Given the description of an element on the screen output the (x, y) to click on. 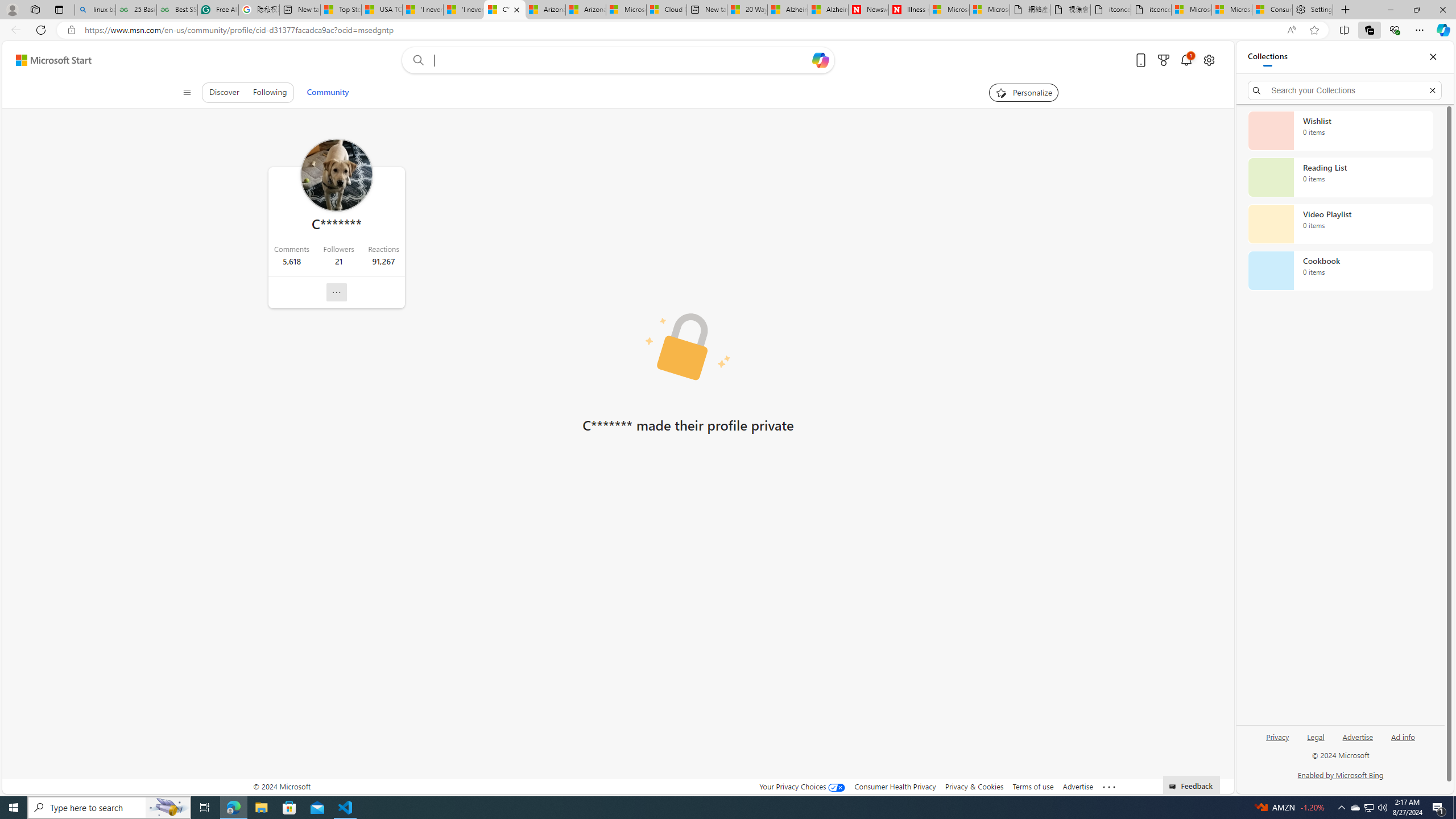
linux basic - Search (94, 9)
Class: feedback_link_icon-DS-EntryPoint1-1 (1173, 786)
Class: control icon-only (186, 92)
Illness news & latest pictures from Newsweek.com (908, 9)
Consumer Health Data Privacy Policy (1272, 9)
Report profile (336, 292)
Reading List collection, 0 items (1339, 177)
